Given the description of an element on the screen output the (x, y) to click on. 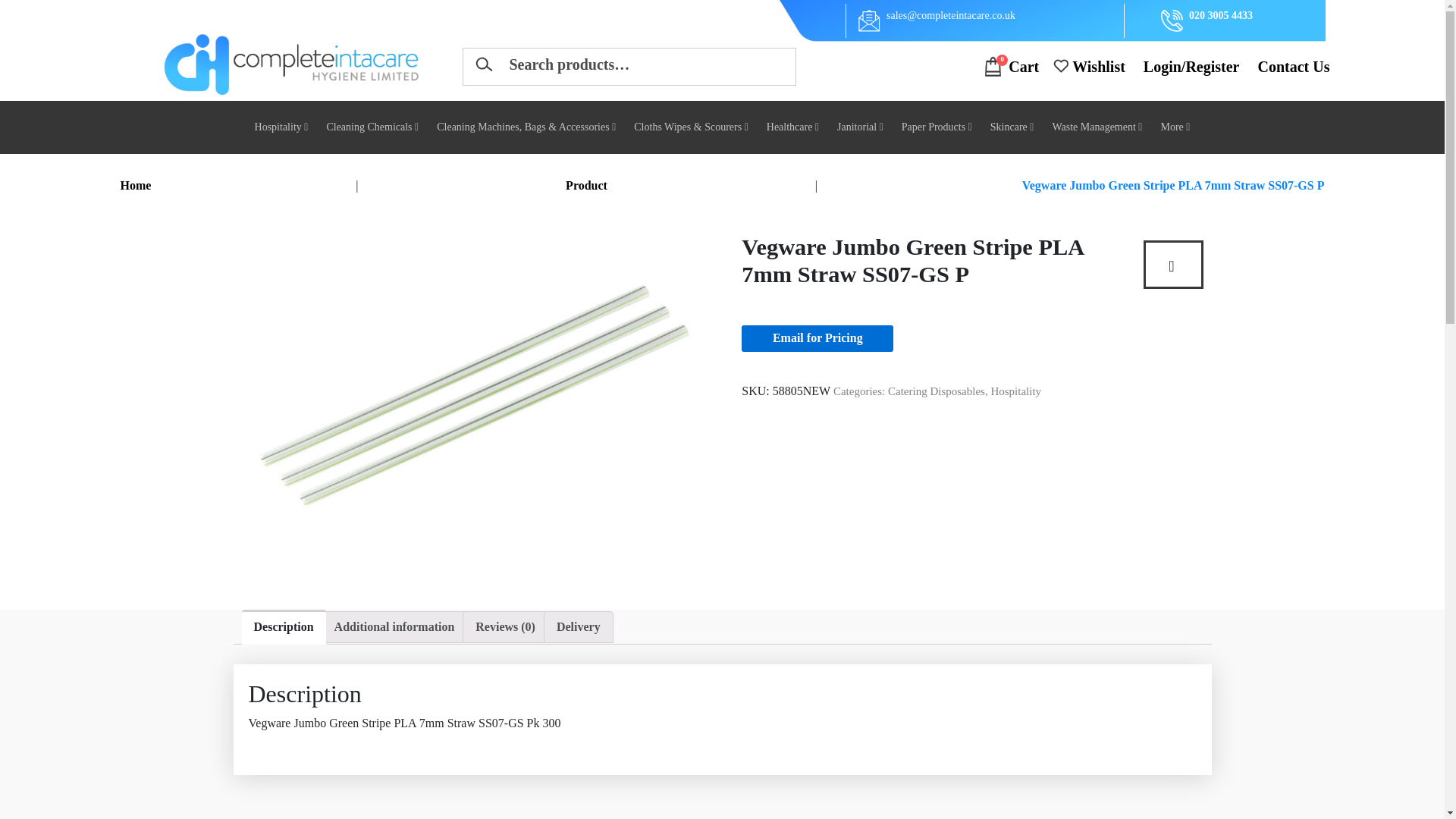
020 3005 4433 (1220, 20)
